Given the description of an element on the screen output the (x, y) to click on. 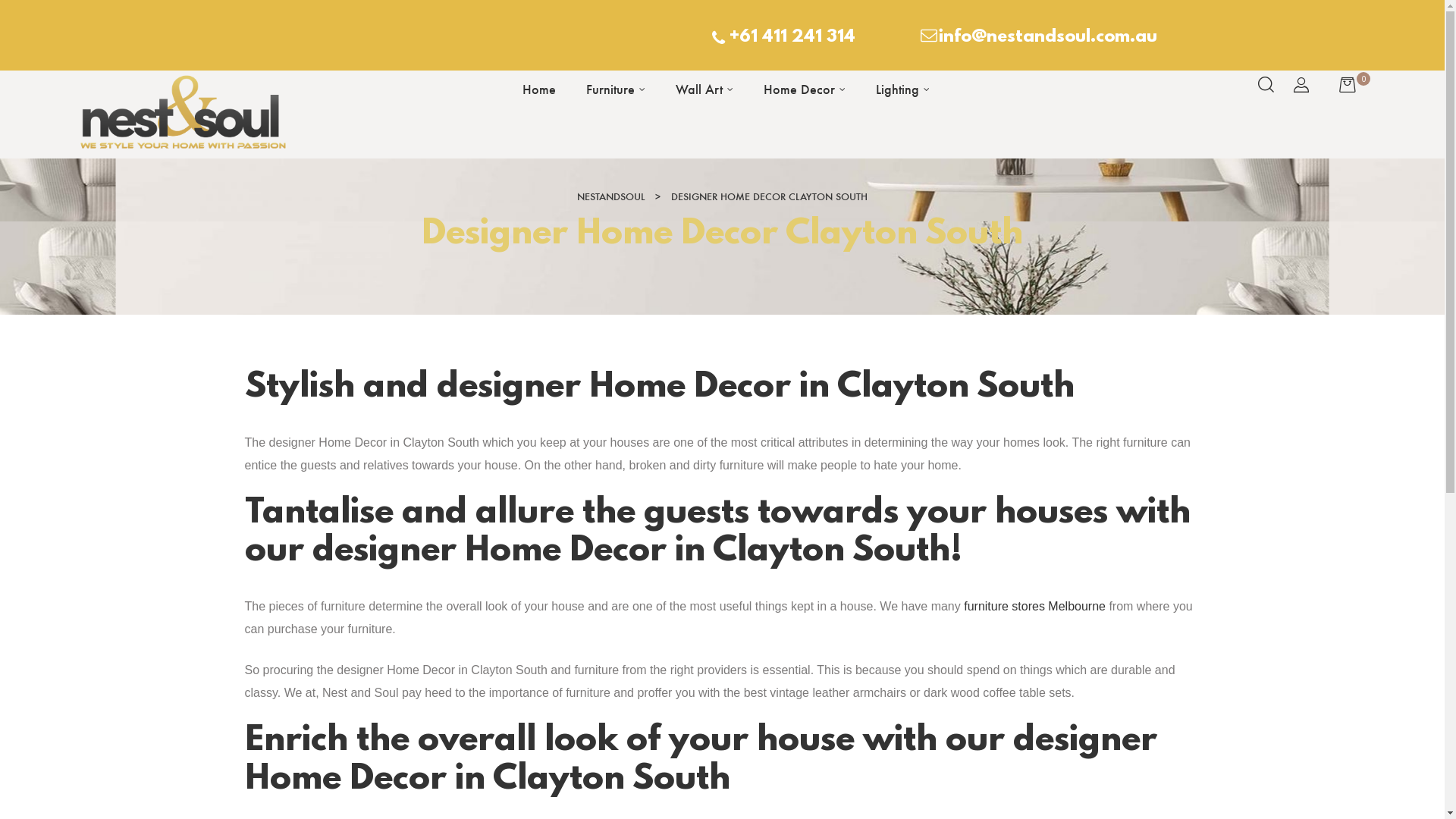
+61 411 241 314 Element type: text (781, 37)
Home Element type: text (539, 89)
Lighting Element type: text (902, 89)
0 Element type: text (1354, 85)
Wall Art Element type: text (704, 89)
Home Decor Element type: text (804, 89)
NESTANDSOUL Element type: text (610, 196)
Furniture Element type: text (615, 89)
furniture stores Melbourne Element type: text (1034, 605)
